Given the description of an element on the screen output the (x, y) to click on. 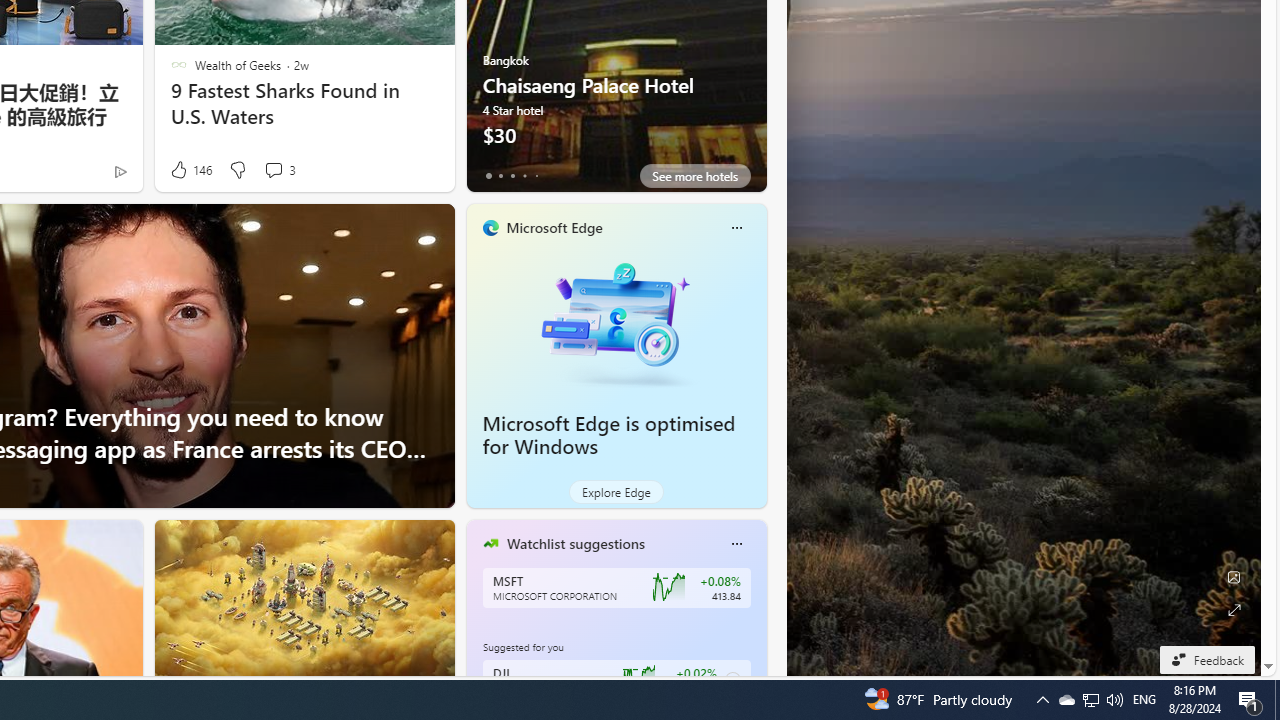
View comments 3 Comment (279, 170)
tab-0 (488, 175)
Microsoft Edge is optimised for Windows (616, 321)
View comments 3 Comment (273, 169)
tab-2 (511, 175)
Microsoft Edge is optimised for Windows (609, 435)
Ad Choice (119, 171)
Explore Edge (616, 491)
More options (736, 543)
